Given the description of an element on the screen output the (x, y) to click on. 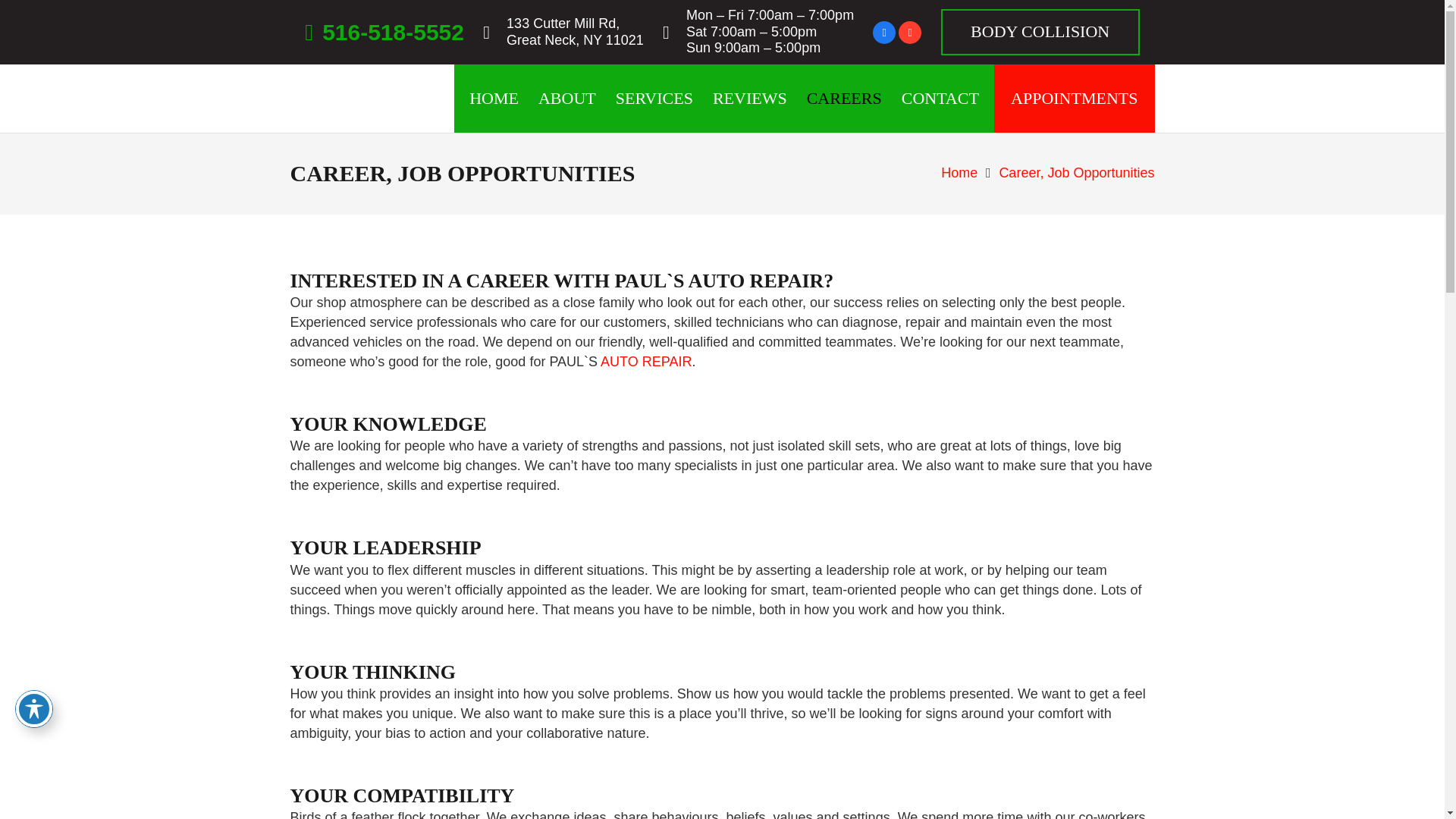
REVIEWS (749, 98)
AUTO REPAIR (645, 361)
APPOINTMENTS (1074, 98)
CAREERS (843, 98)
BODY COLLISION (1039, 32)
Home (958, 172)
ABOUT (566, 98)
516-518-5552 (574, 31)
Facebook (384, 32)
